Given the description of an element on the screen output the (x, y) to click on. 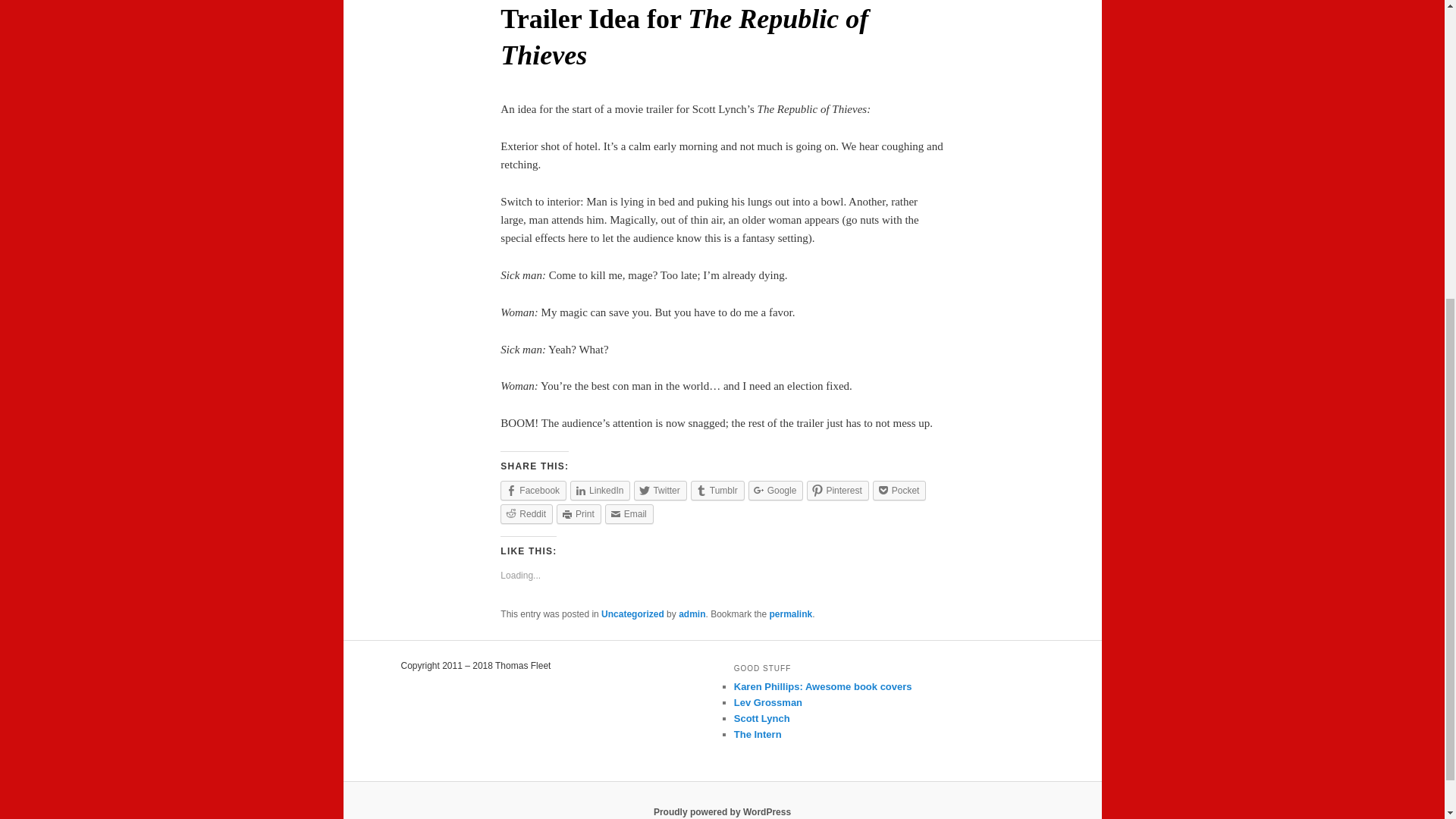
Click to share on Pinterest (836, 490)
Google (775, 490)
Click to share on Twitter (659, 490)
Click to share on Tumblr (717, 490)
Pinterest (836, 490)
Uncategorized (632, 614)
The Intern (757, 734)
Lev Grossman (767, 702)
Facebook (533, 490)
Tumblr (717, 490)
Pocket (899, 490)
Click to share on LinkedIn (600, 490)
Karen Phillips: Awesome book covers (822, 686)
Email (629, 514)
Click to email this to a friend (629, 514)
